Given the description of an element on the screen output the (x, y) to click on. 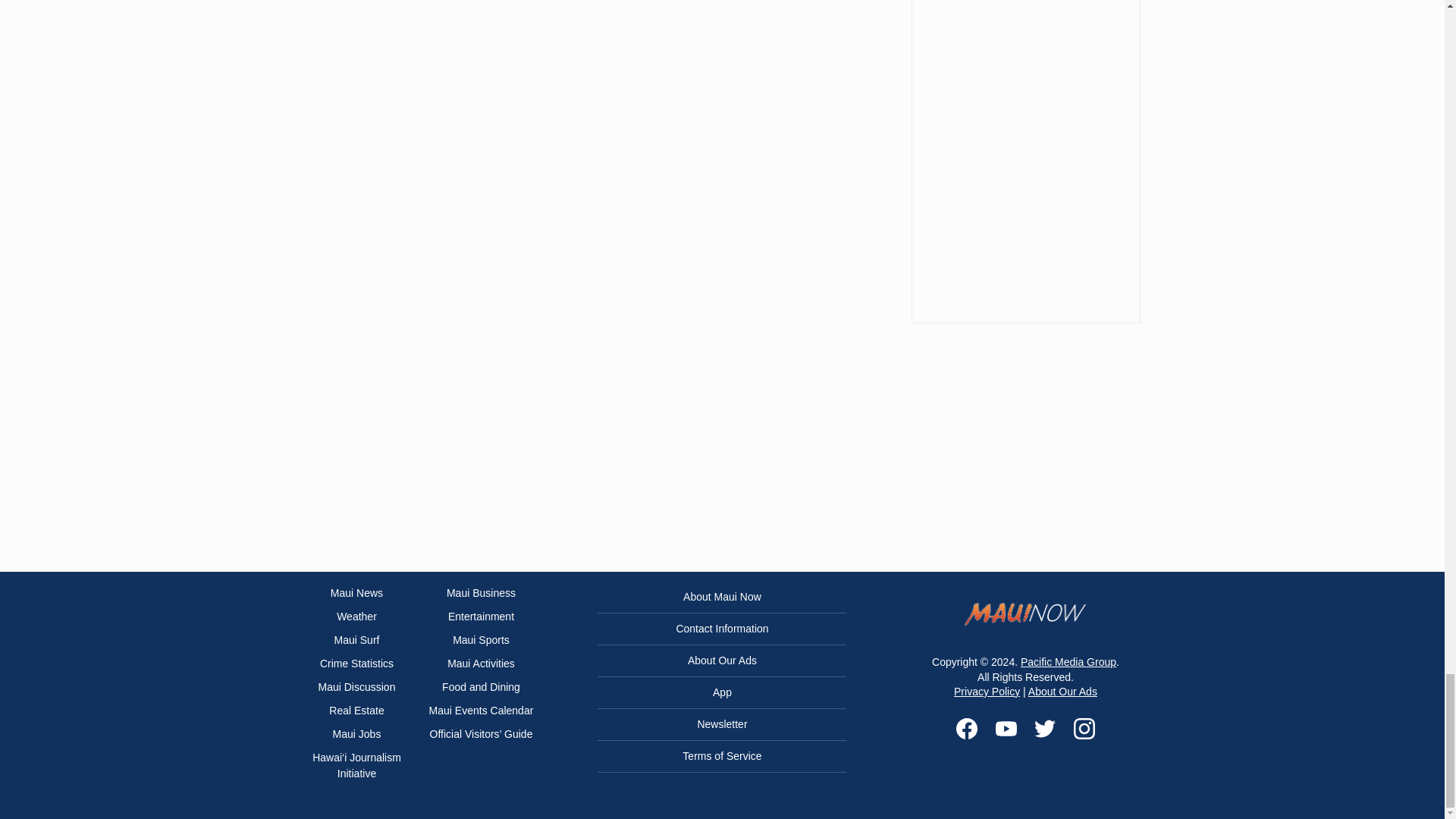
YouTube (1005, 728)
Facebook (966, 728)
Twitter (1044, 728)
Instagram (1084, 728)
